Given the description of an element on the screen output the (x, y) to click on. 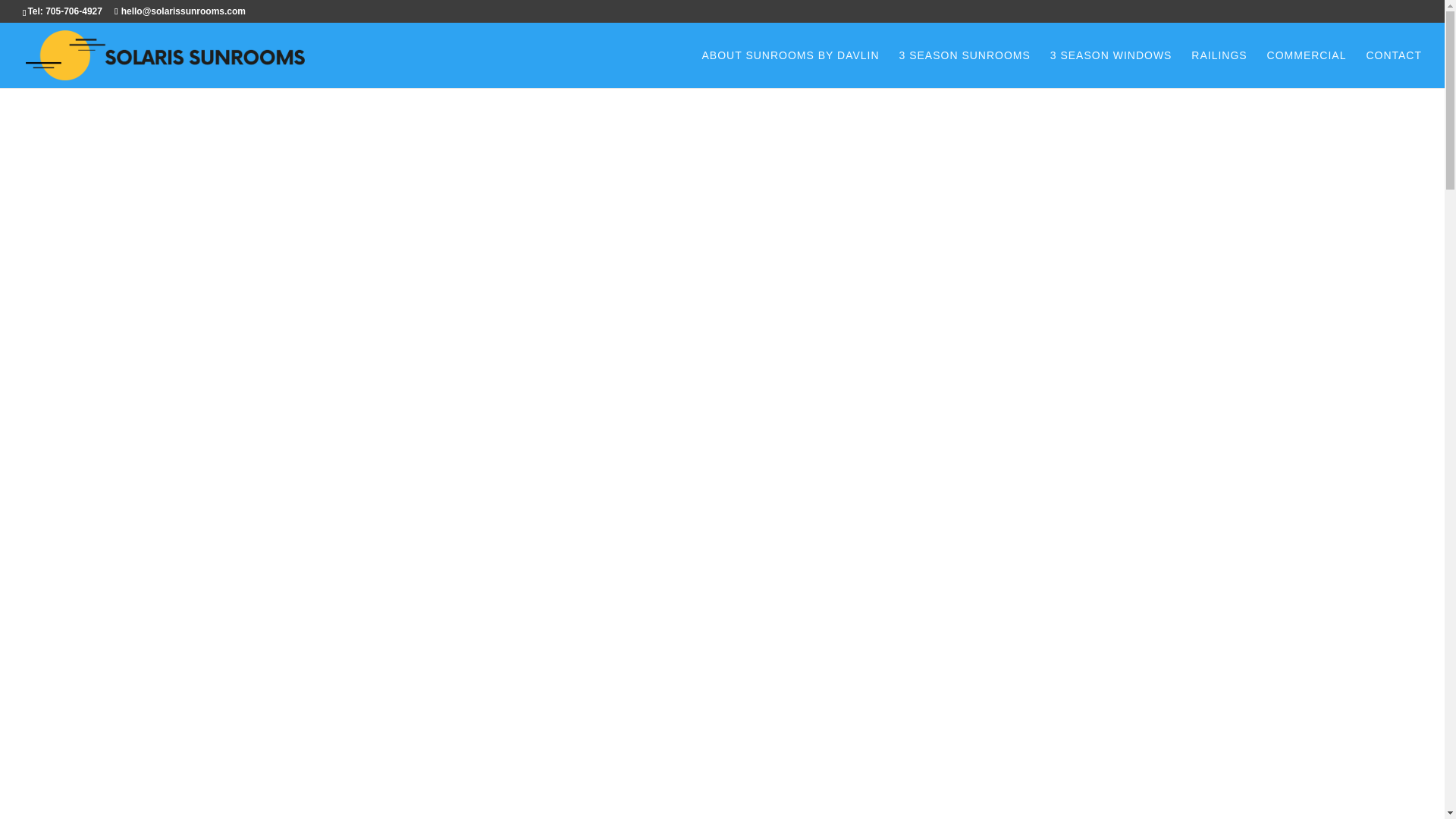
ABOUT SUNROOMS BY DAVLIN (790, 68)
3 SEASON SUNROOMS (963, 68)
RAILINGS (1218, 68)
COMMERCIAL (1306, 68)
3 SEASON WINDOWS (1110, 68)
CONTACT (1393, 68)
